Given the description of an element on the screen output the (x, y) to click on. 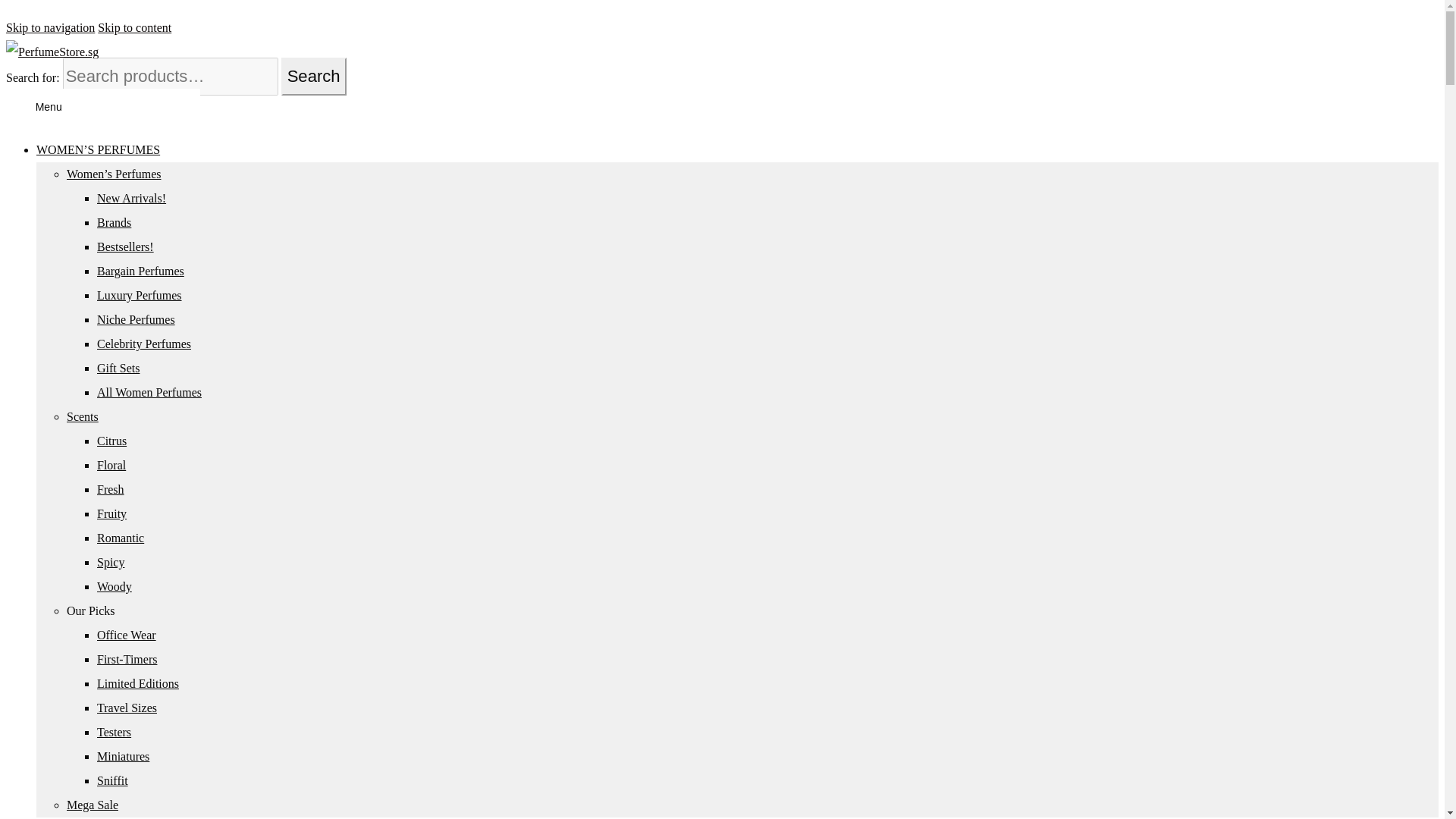
Gift Sets (118, 367)
All Women Perfumes (149, 391)
Menu (102, 107)
Bargain Perfumes (140, 270)
Celebrity Perfumes (143, 343)
Skip to navigation (49, 27)
Brands (114, 222)
Floral (111, 464)
Citrus (111, 440)
Woody (114, 585)
